Given the description of an element on the screen output the (x, y) to click on. 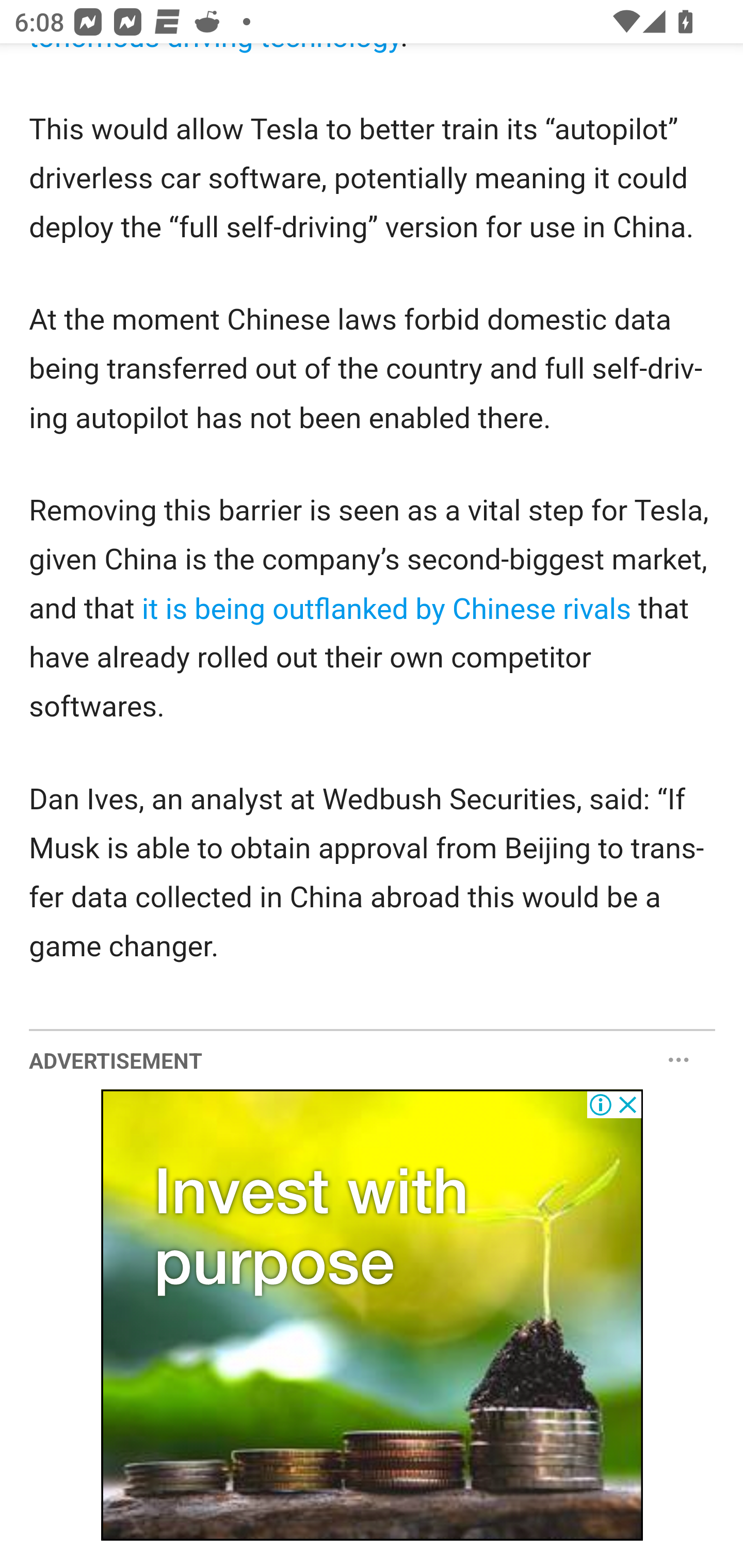
it is being outflanked by Chinese rivals (386, 607)
